Given the description of an element on the screen output the (x, y) to click on. 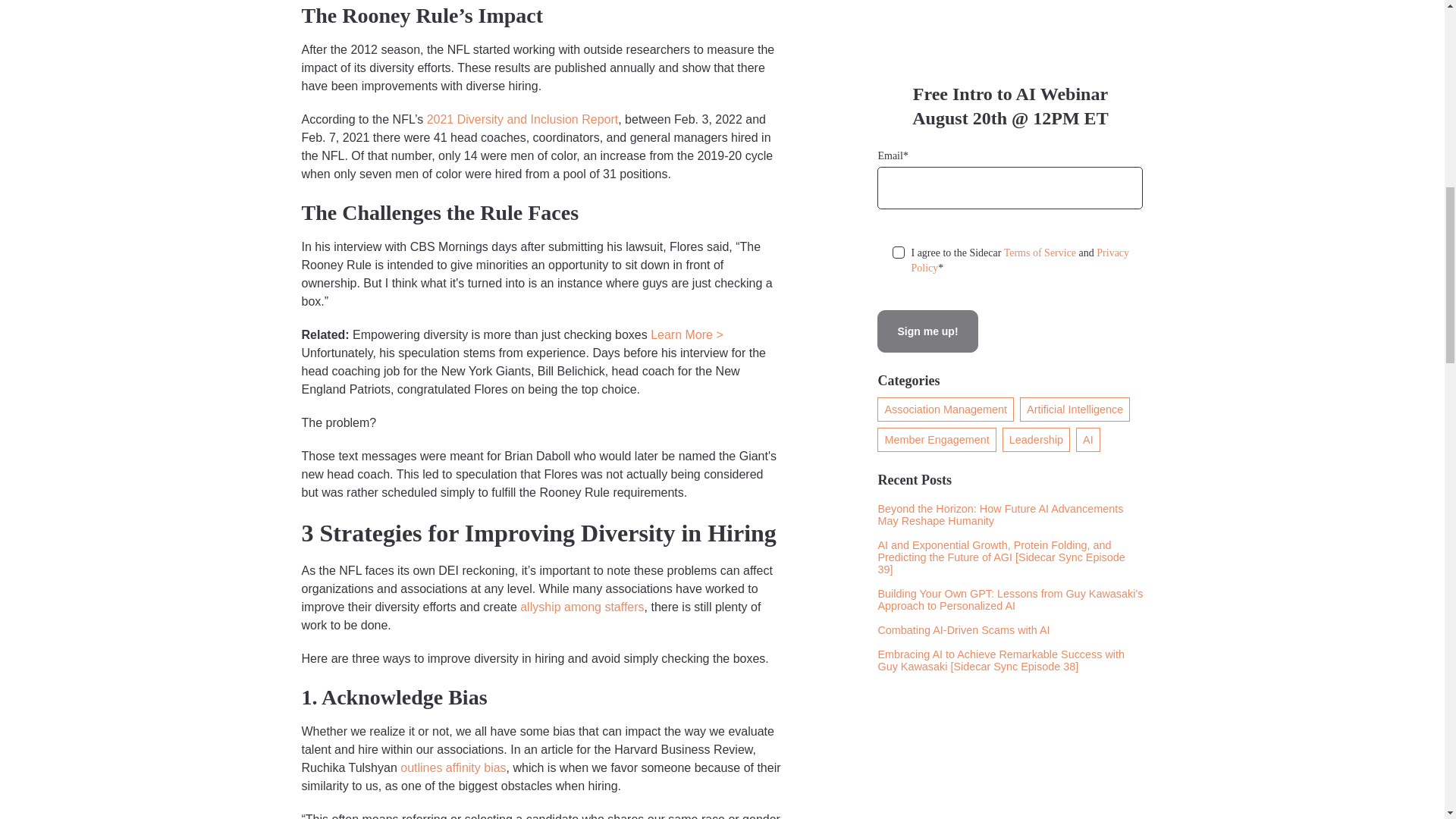
2021 Diversity and Inclusion Report (522, 119)
outlines affinity bias (452, 767)
allyship among staffers (581, 606)
